Given the description of an element on the screen output the (x, y) to click on. 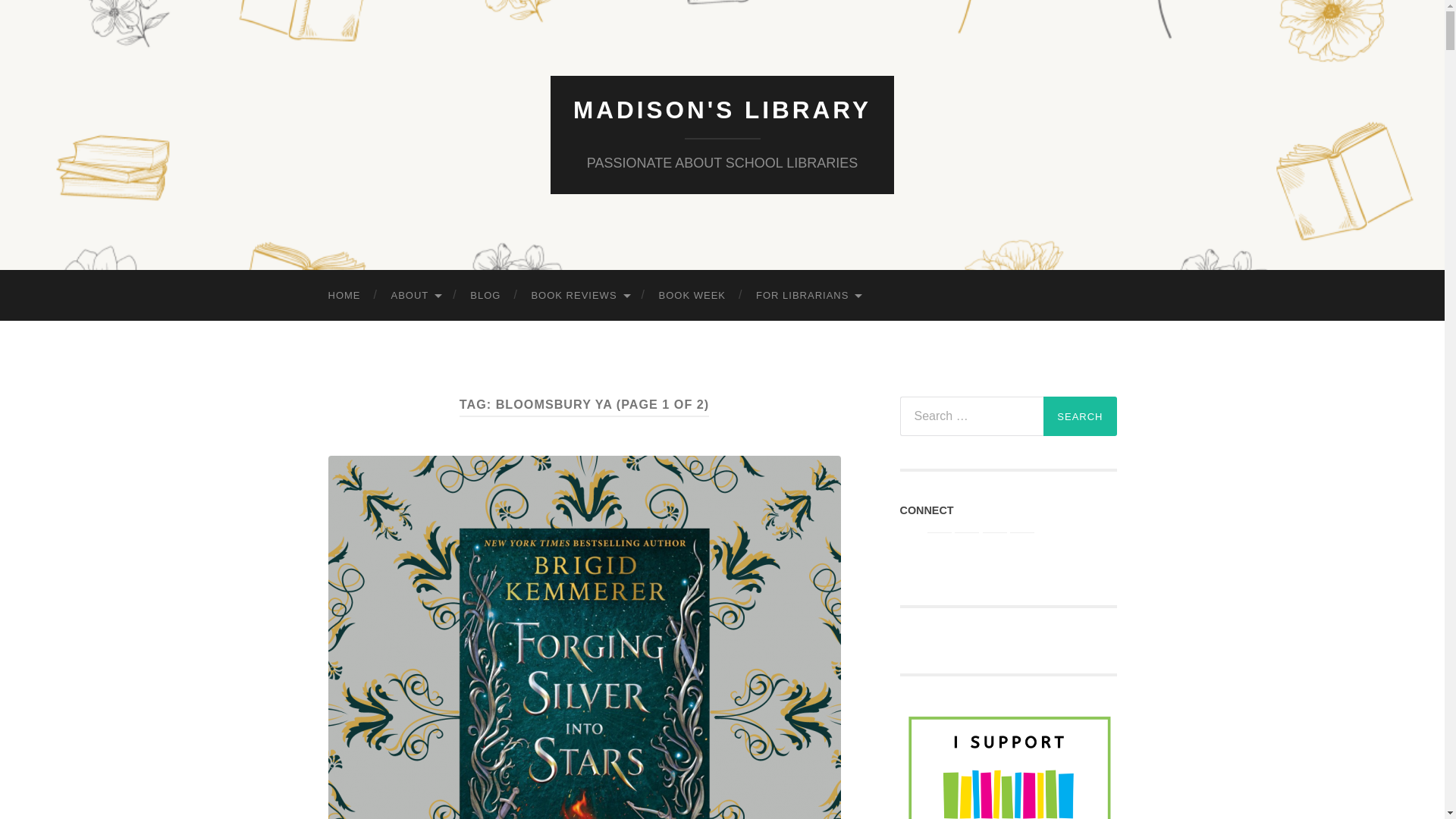
Search (1079, 415)
ABOUT (415, 295)
BOOK WEEK (692, 295)
MADISON'S LIBRARY (721, 109)
BLOG (484, 295)
BOOK REVIEWS (579, 295)
FOR LIBRARIANS (808, 295)
Search (1079, 415)
HOME (344, 295)
